Given the description of an element on the screen output the (x, y) to click on. 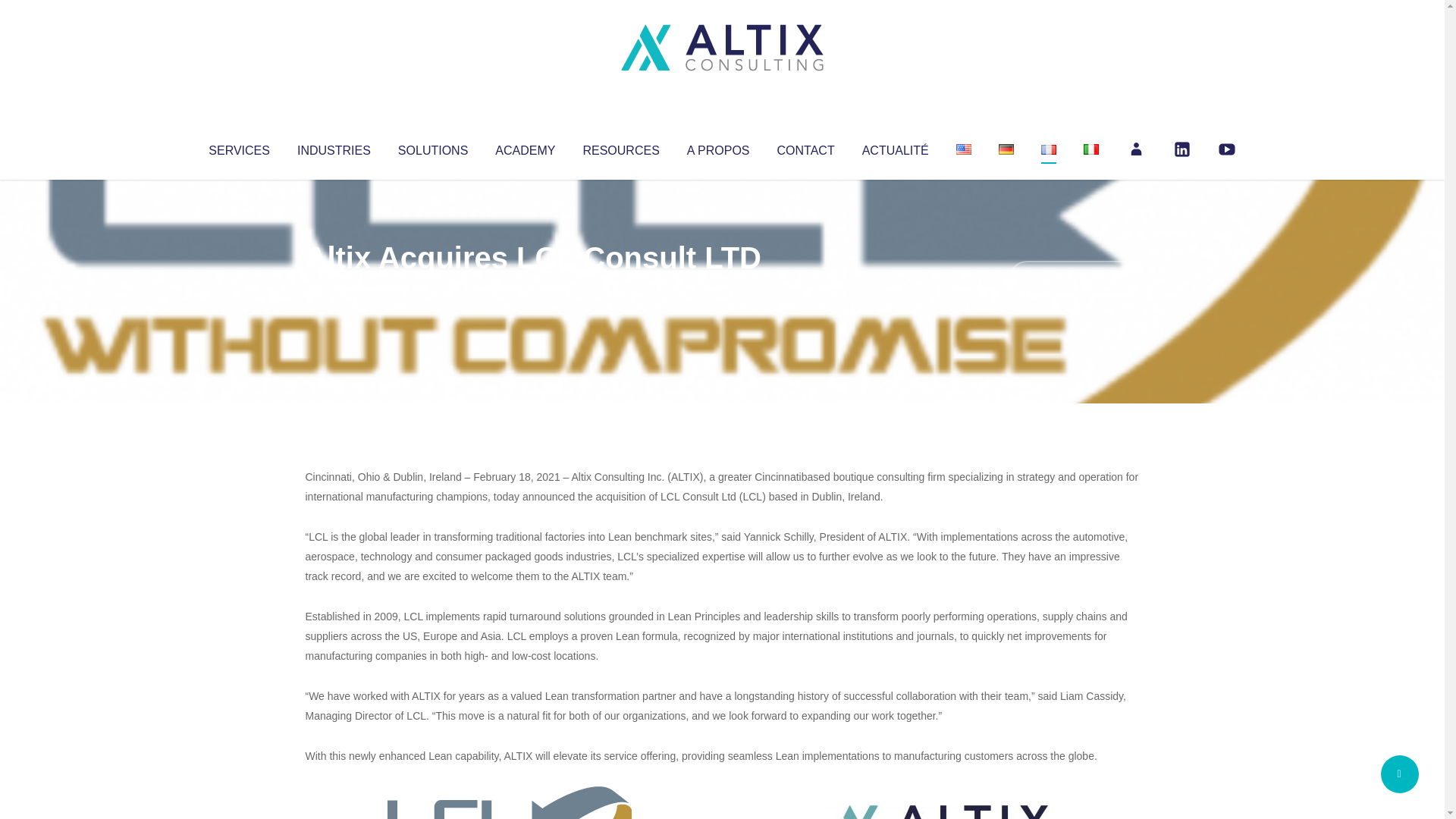
Articles par Altix (333, 287)
A PROPOS (718, 146)
ACADEMY (524, 146)
INDUSTRIES (334, 146)
Altix (333, 287)
SERVICES (238, 146)
RESOURCES (620, 146)
SOLUTIONS (432, 146)
Uncategorized (530, 287)
No Comments (1073, 278)
